Given the description of an element on the screen output the (x, y) to click on. 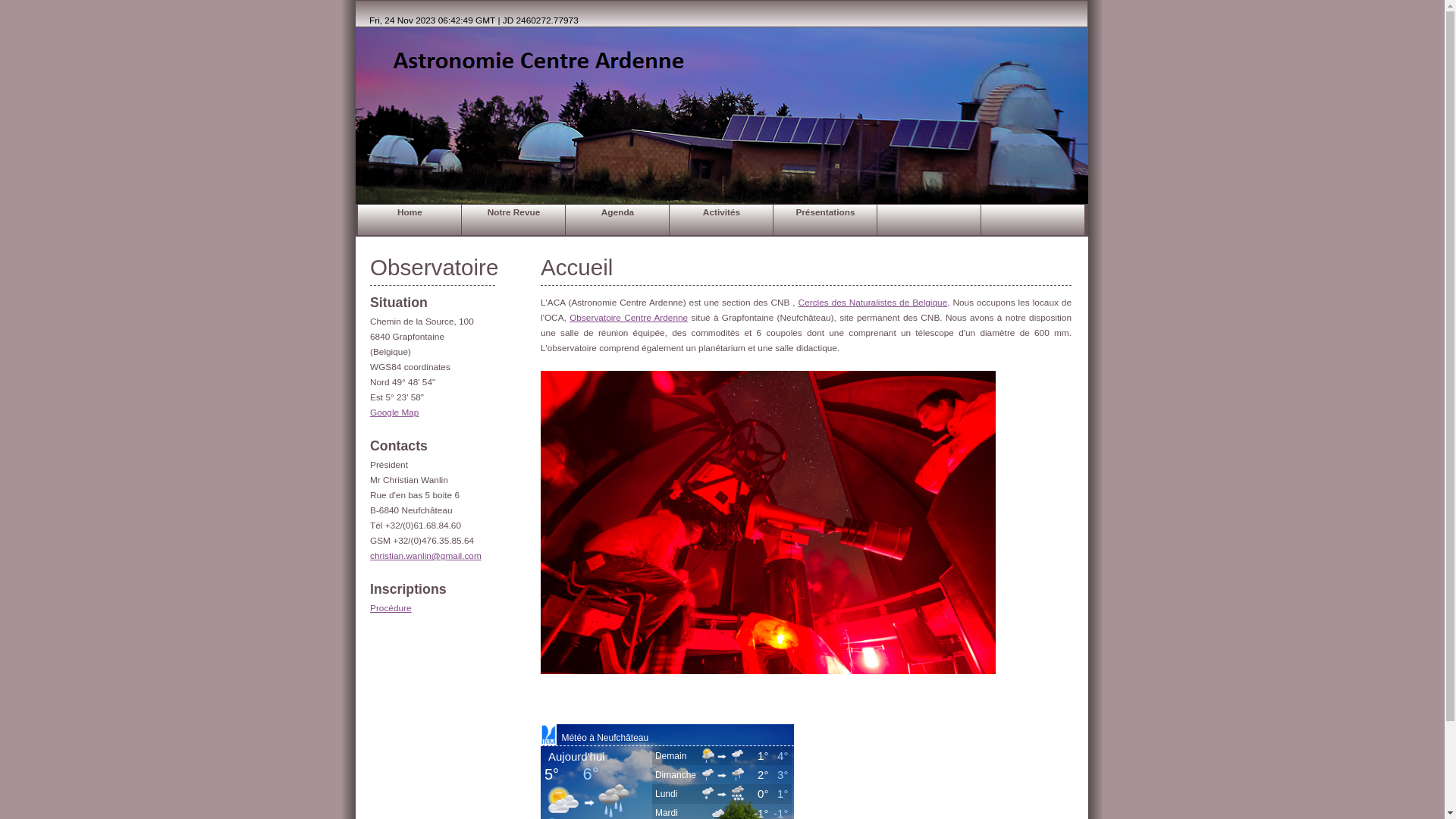
Cercles des Naturalistes de Belgique Element type: text (872, 302)
christian.wanlin@gmail.com Element type: text (425, 555)
Observatoire Centre Ardenne Element type: text (628, 317)
Notre Revue Element type: text (513, 219)
Home Element type: text (409, 219)
Google Map Element type: text (394, 412)
Agenda Element type: text (617, 219)
